Given the description of an element on the screen output the (x, y) to click on. 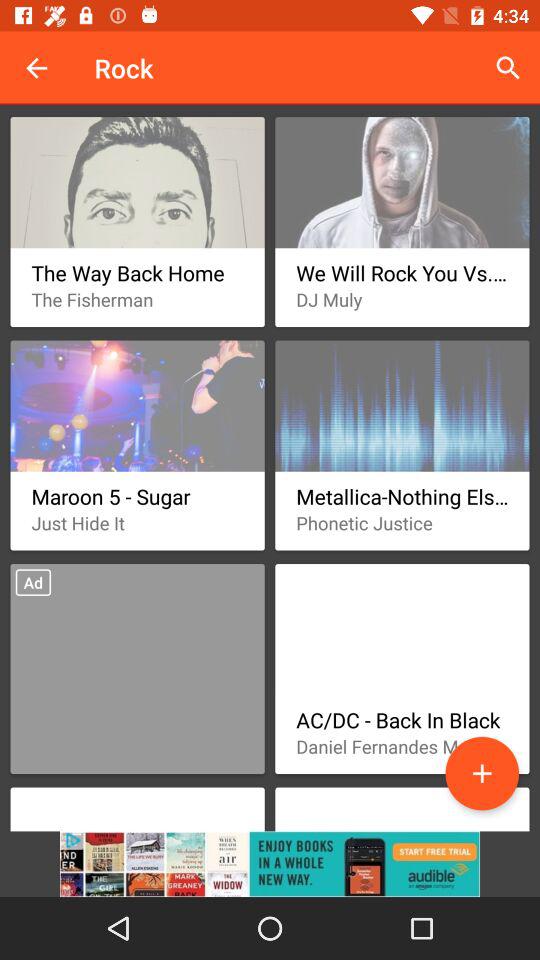
add another song (482, 773)
